Given the description of an element on the screen output the (x, y) to click on. 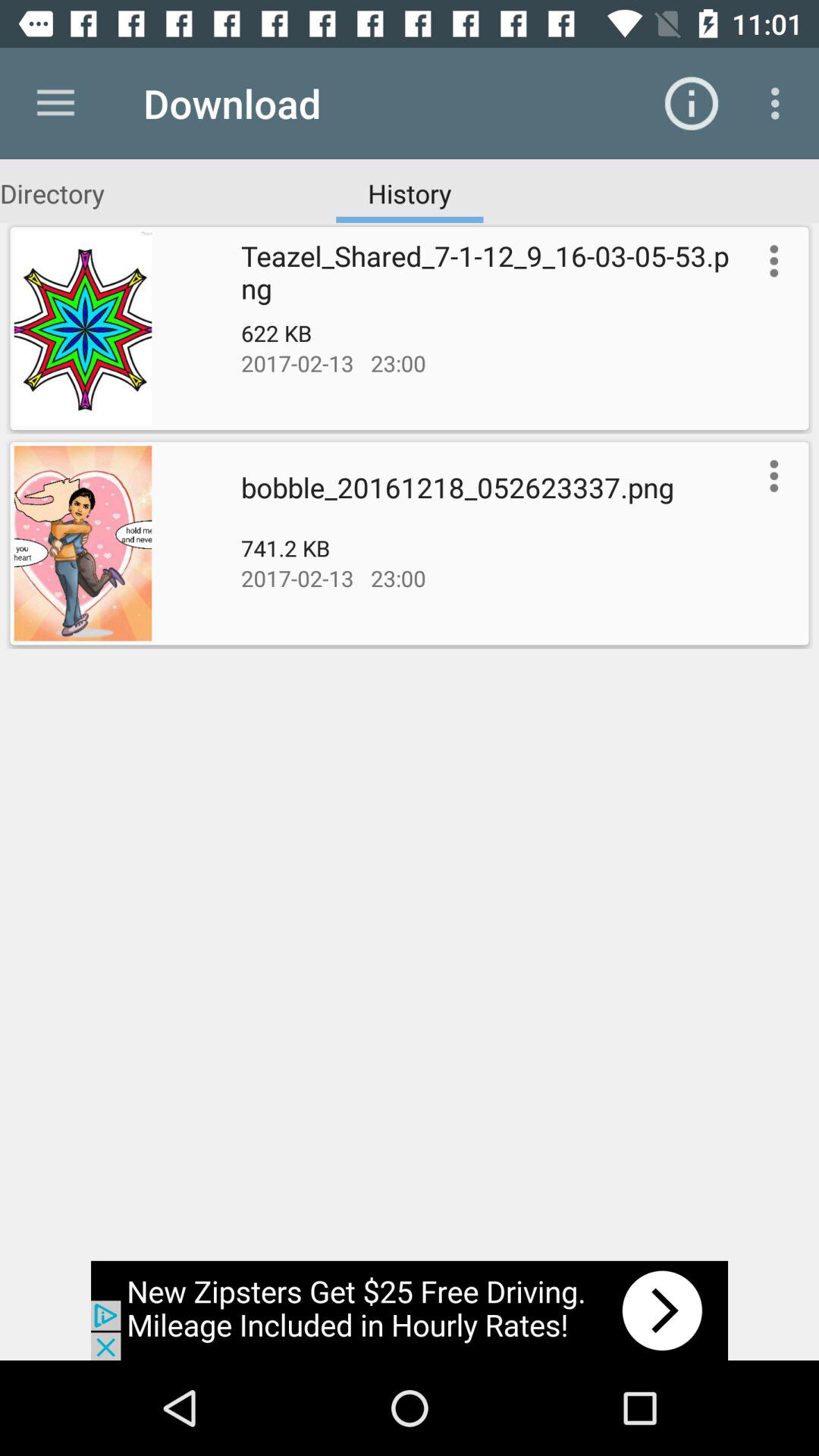
opens up advertisement (409, 1310)
